Given the description of an element on the screen output the (x, y) to click on. 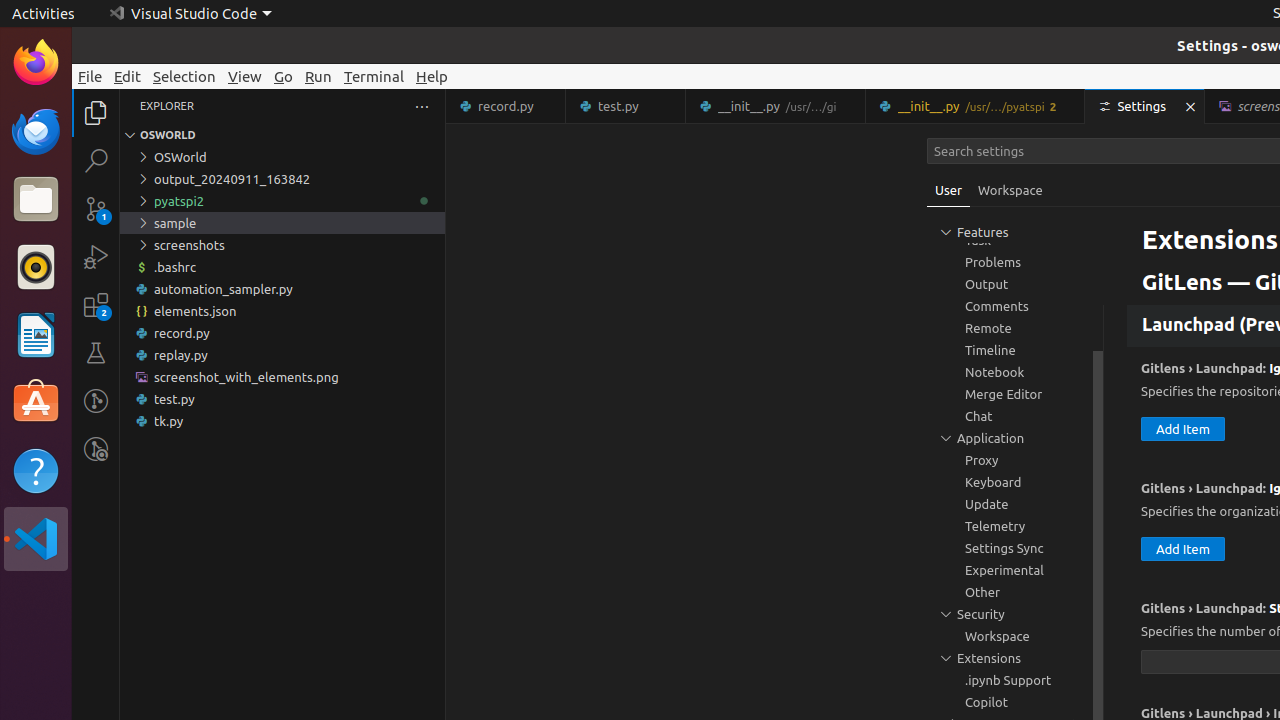
Merge Editor, group Element type: tree-item (1015, 394)
elements.json Element type: tree-item (282, 311)
Testing Element type: page-tab (96, 353)
Keyboard, group Element type: tree-item (1015, 482)
Comments, group Element type: tree-item (1015, 306)
